Given the description of an element on the screen output the (x, y) to click on. 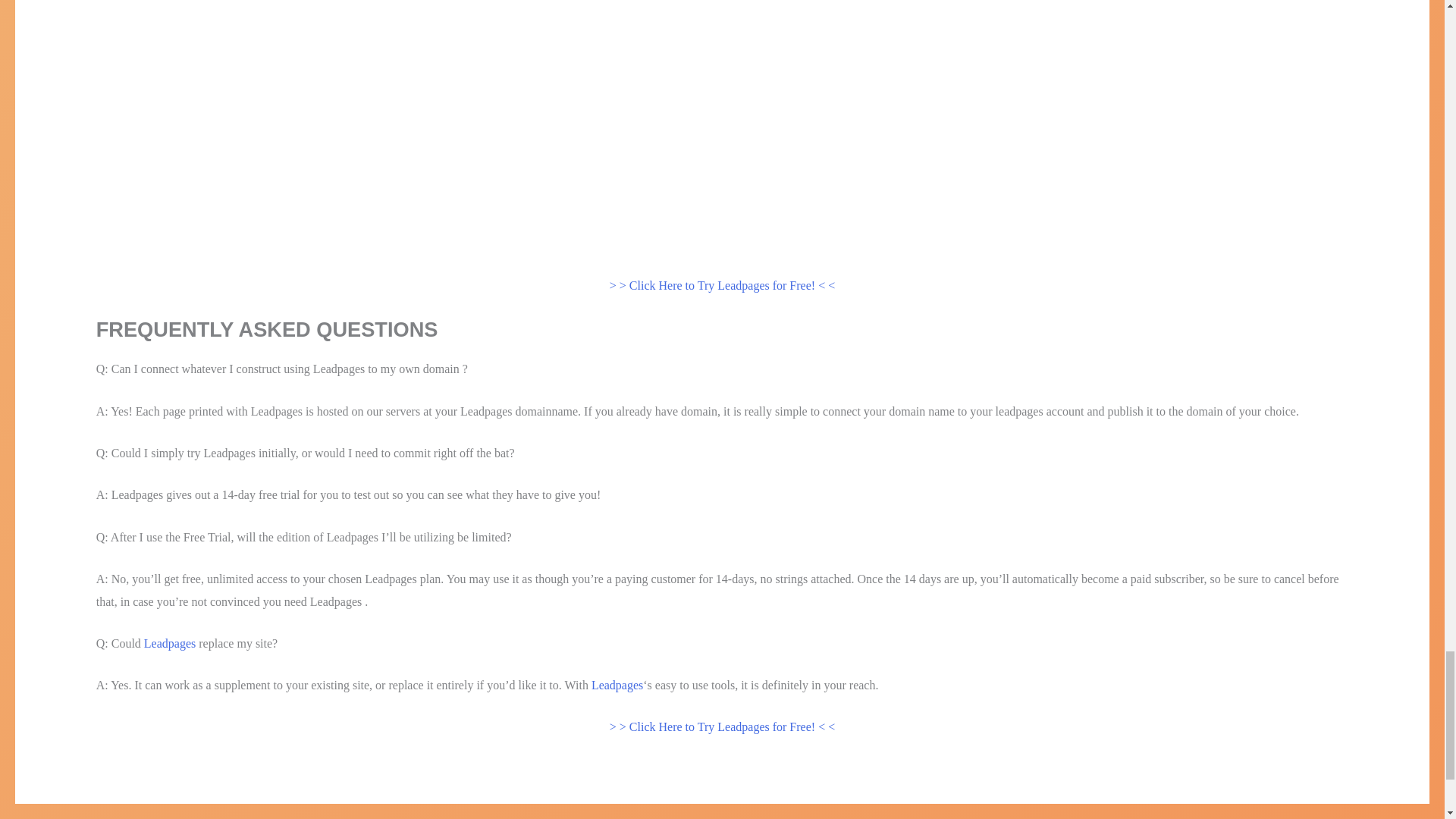
Leadpages (169, 643)
Leadpages (617, 684)
